Given the description of an element on the screen output the (x, y) to click on. 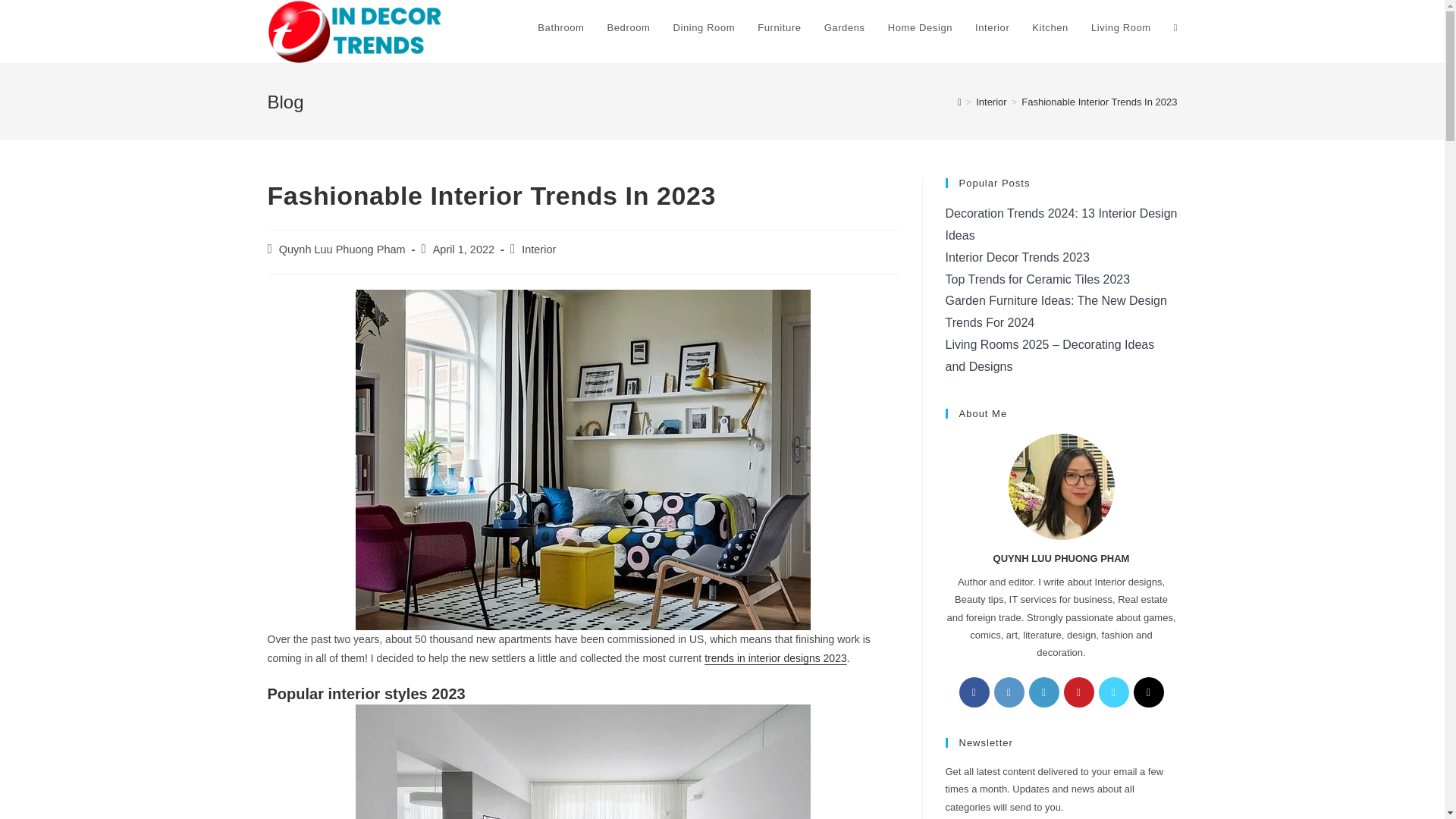
Interior (990, 101)
Posts by Quynh Luu Phuong Pham (342, 249)
Interior (991, 28)
Home Design (919, 28)
Living Room (1120, 28)
Furniture (778, 28)
Quynh Luu Phuong Pham (342, 249)
Gardens (844, 28)
Kitchen (1050, 28)
Toggle website search (1175, 28)
Bathroom (560, 28)
Dining Room (703, 28)
Bedroom (628, 28)
Fashionable Interior Trends In 2023 (1099, 101)
trends in interior designs 2023 (775, 657)
